Given the description of an element on the screen output the (x, y) to click on. 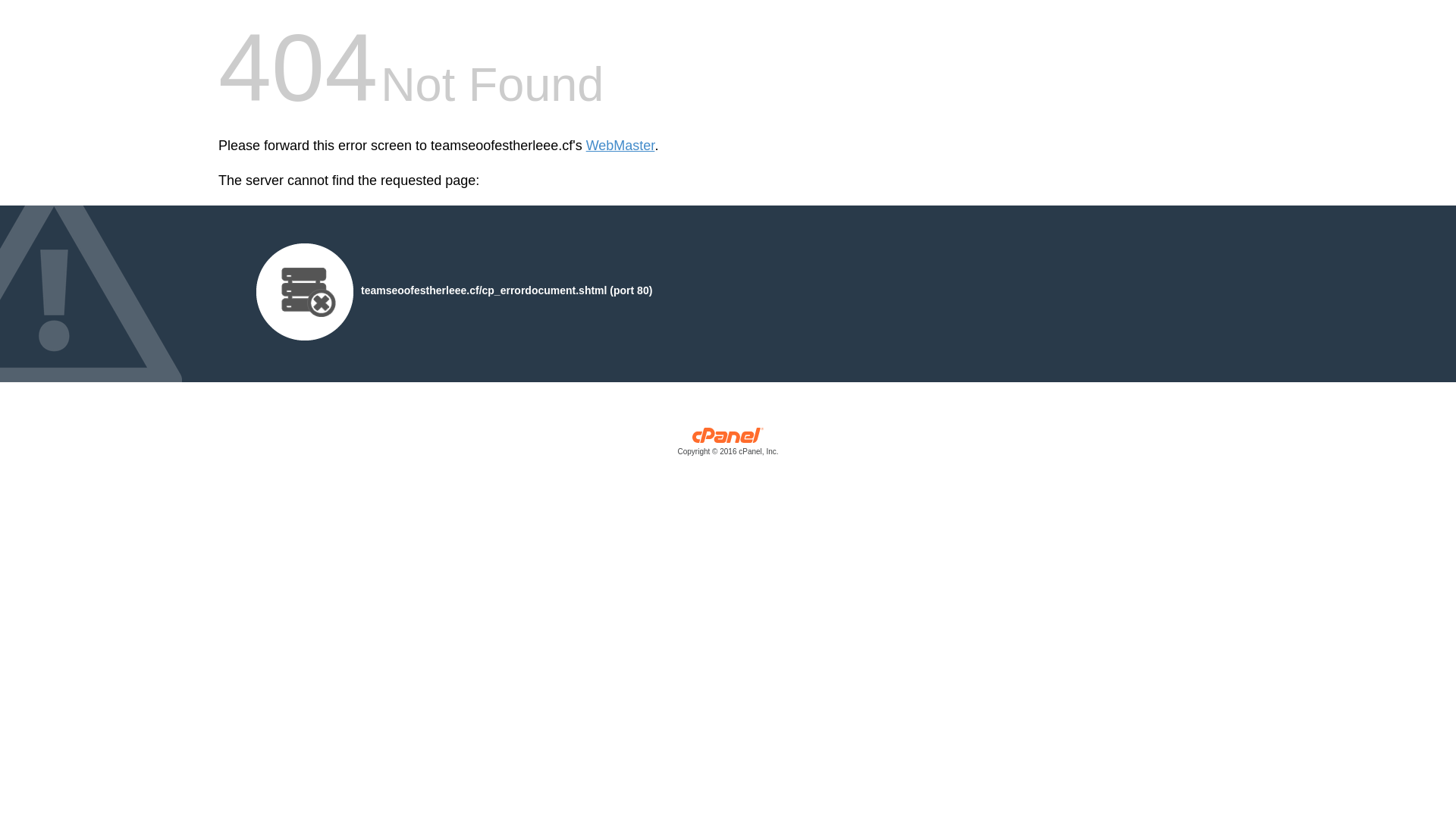
WebMaster Element type: text (620, 145)
